Given the description of an element on the screen output the (x, y) to click on. 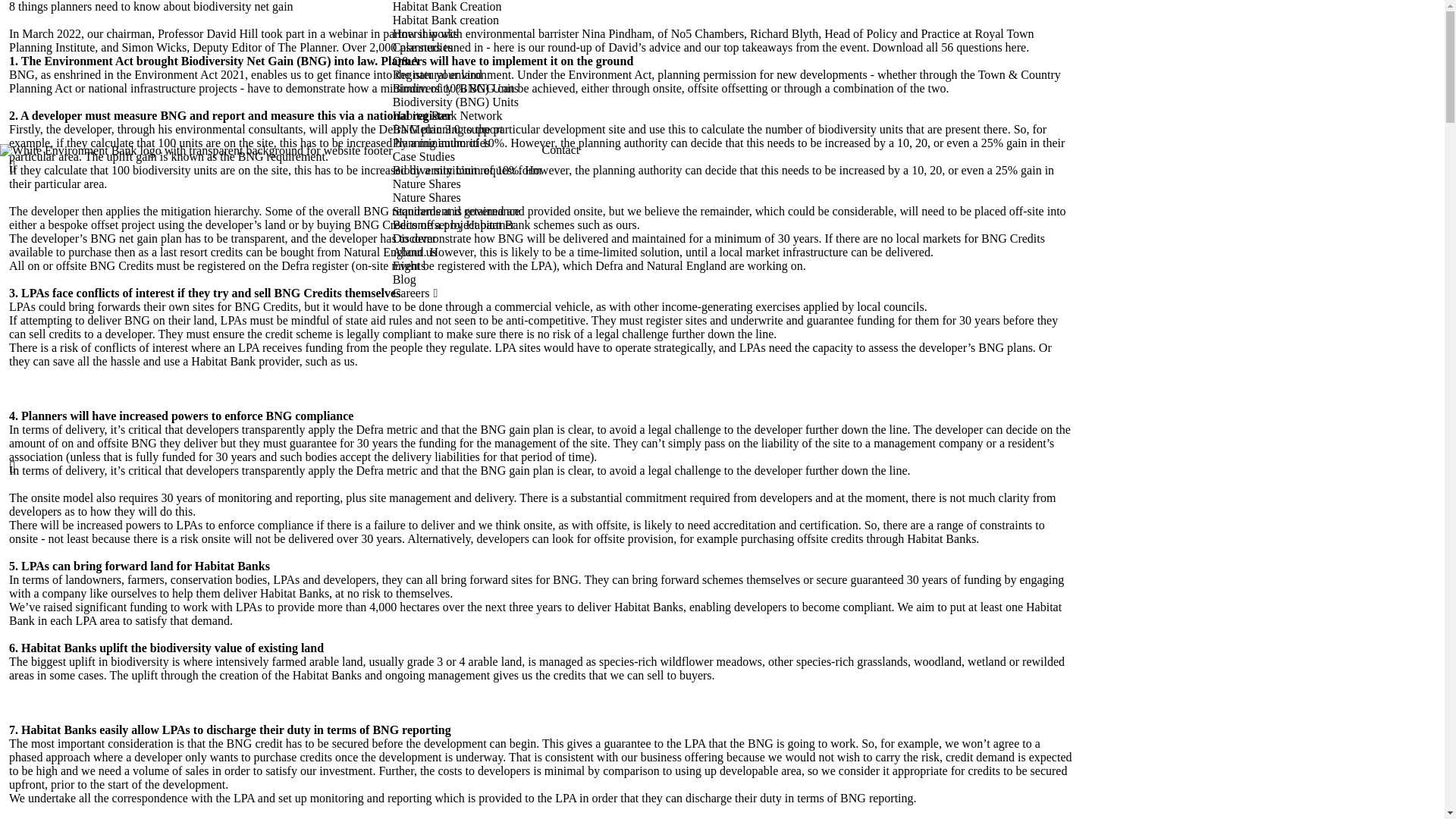
LPAs (21, 306)
How it works (467, 33)
Biodiversity Unit request form (467, 170)
BNG planning support (467, 129)
56 Questions Planners Asked About BNG (949, 47)
Case studies (467, 47)
BNG Credits (1013, 237)
Blog (467, 279)
Habitat Bank Creation (467, 6)
Download all 56 questions here (949, 47)
Standards and governance (467, 211)
Habitat Bank creation (467, 20)
Register your land (467, 74)
Case Studies (467, 156)
Environment Act 2021 (188, 74)
